Given the description of an element on the screen output the (x, y) to click on. 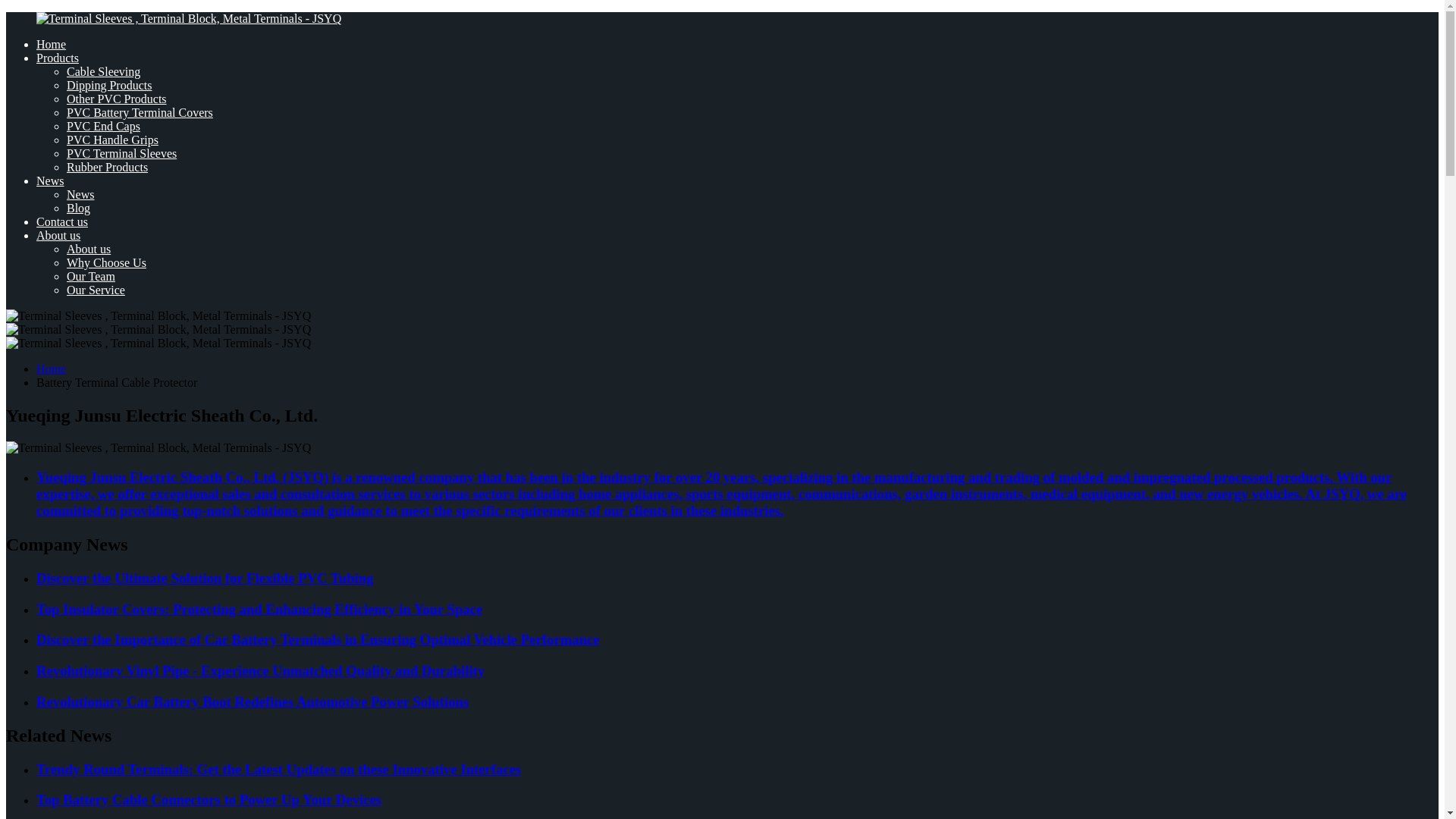
PVC Battery Terminal Covers (139, 112)
Other PVC Products (116, 98)
PVC Terminal Sleeves (121, 153)
About us (88, 248)
PVC End Caps (102, 125)
Why Choose Us (106, 262)
Contact us (61, 221)
News (80, 194)
Our Service (95, 289)
Our Team (90, 276)
Home (50, 43)
Products (57, 57)
Dipping Products (108, 84)
Cable Sleeving (102, 71)
About us (58, 235)
